Given the description of an element on the screen output the (x, y) to click on. 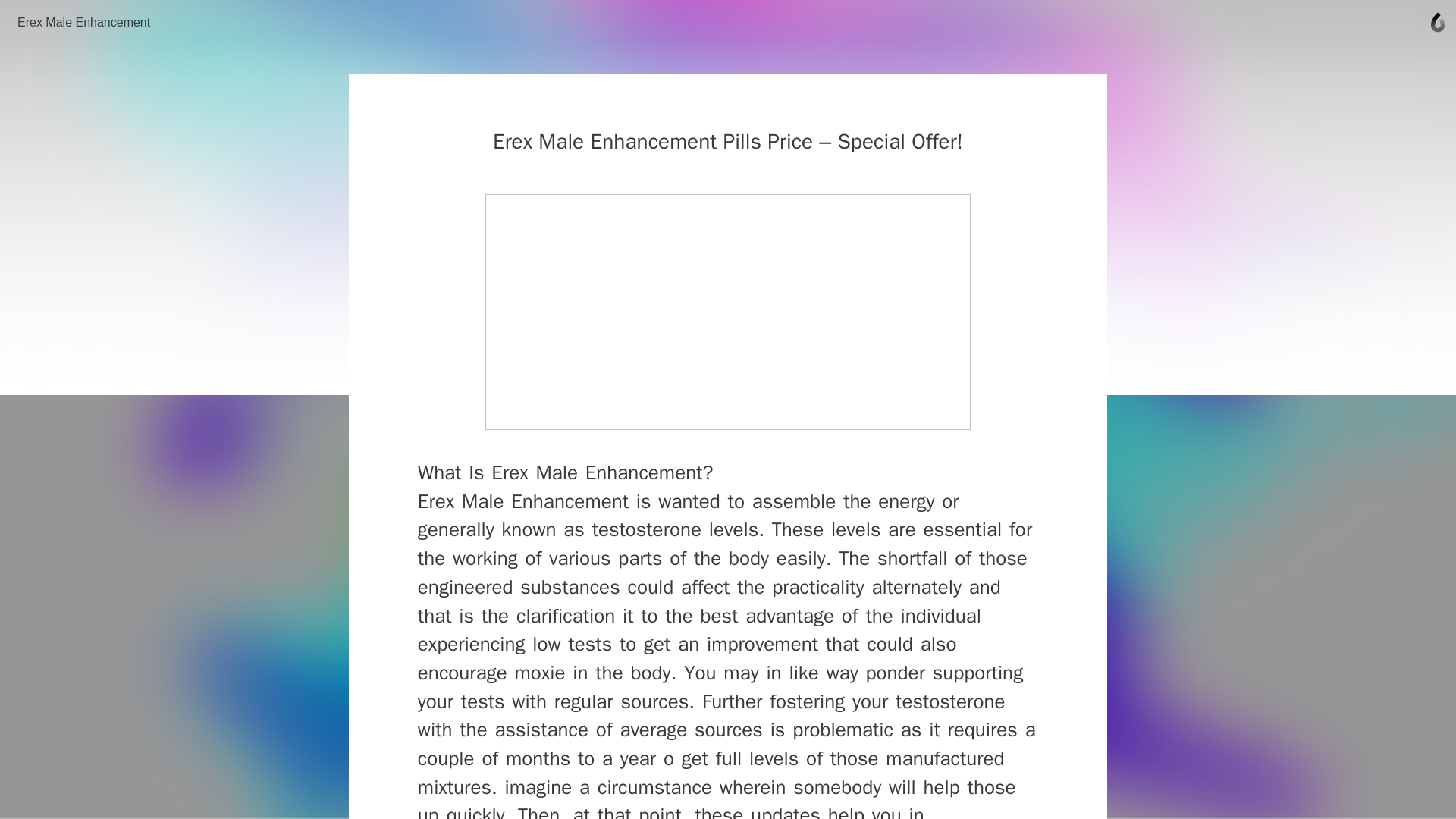
Erex Male Enhancement (83, 22)
